Given the description of an element on the screen output the (x, y) to click on. 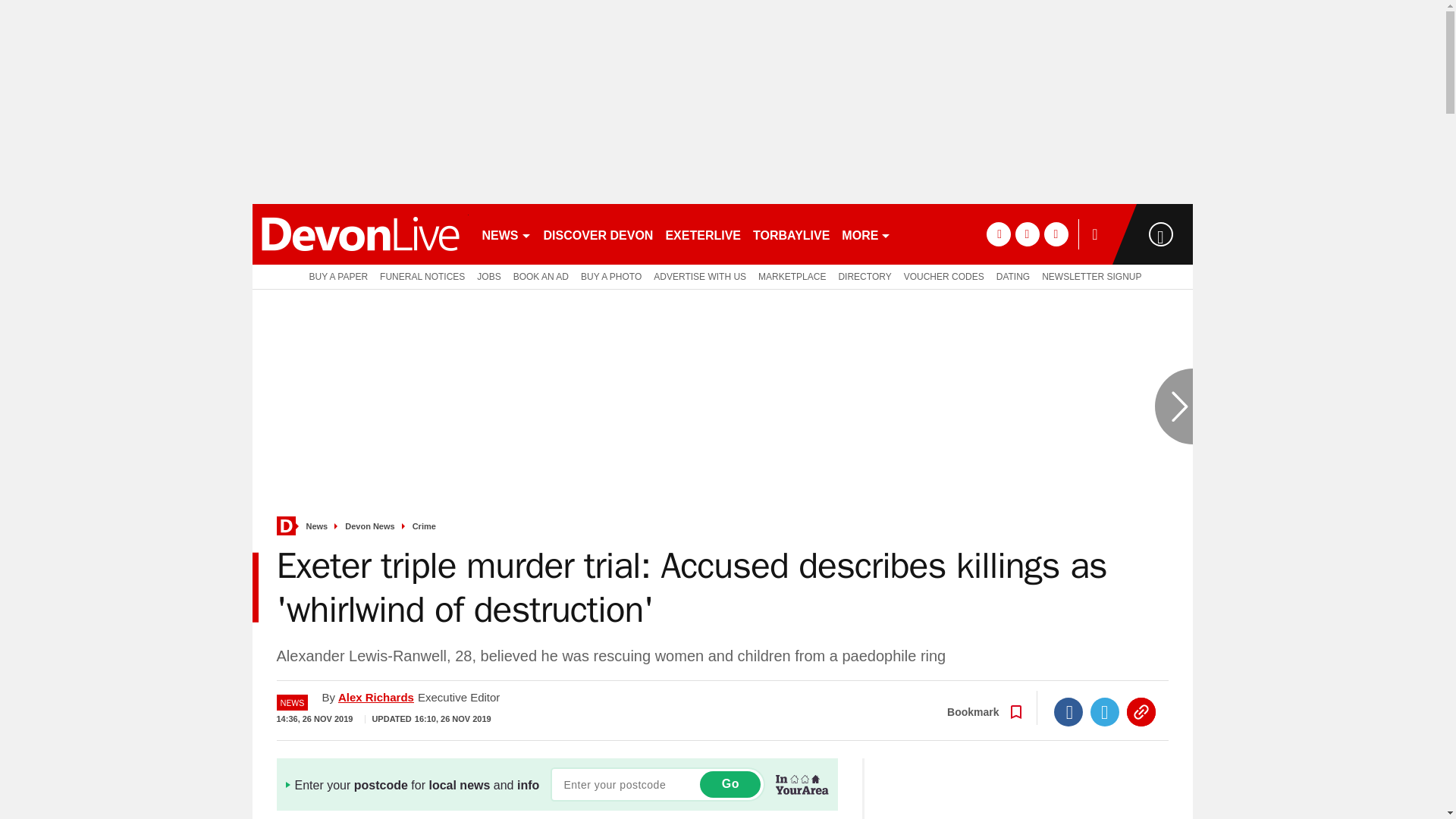
facebook (997, 233)
DISCOVER DEVON (598, 233)
Twitter (1104, 711)
devonlive (359, 233)
NEWS (506, 233)
instagram (1055, 233)
Go (730, 784)
MORE (865, 233)
TORBAYLIVE (790, 233)
twitter (1026, 233)
